Given the description of an element on the screen output the (x, y) to click on. 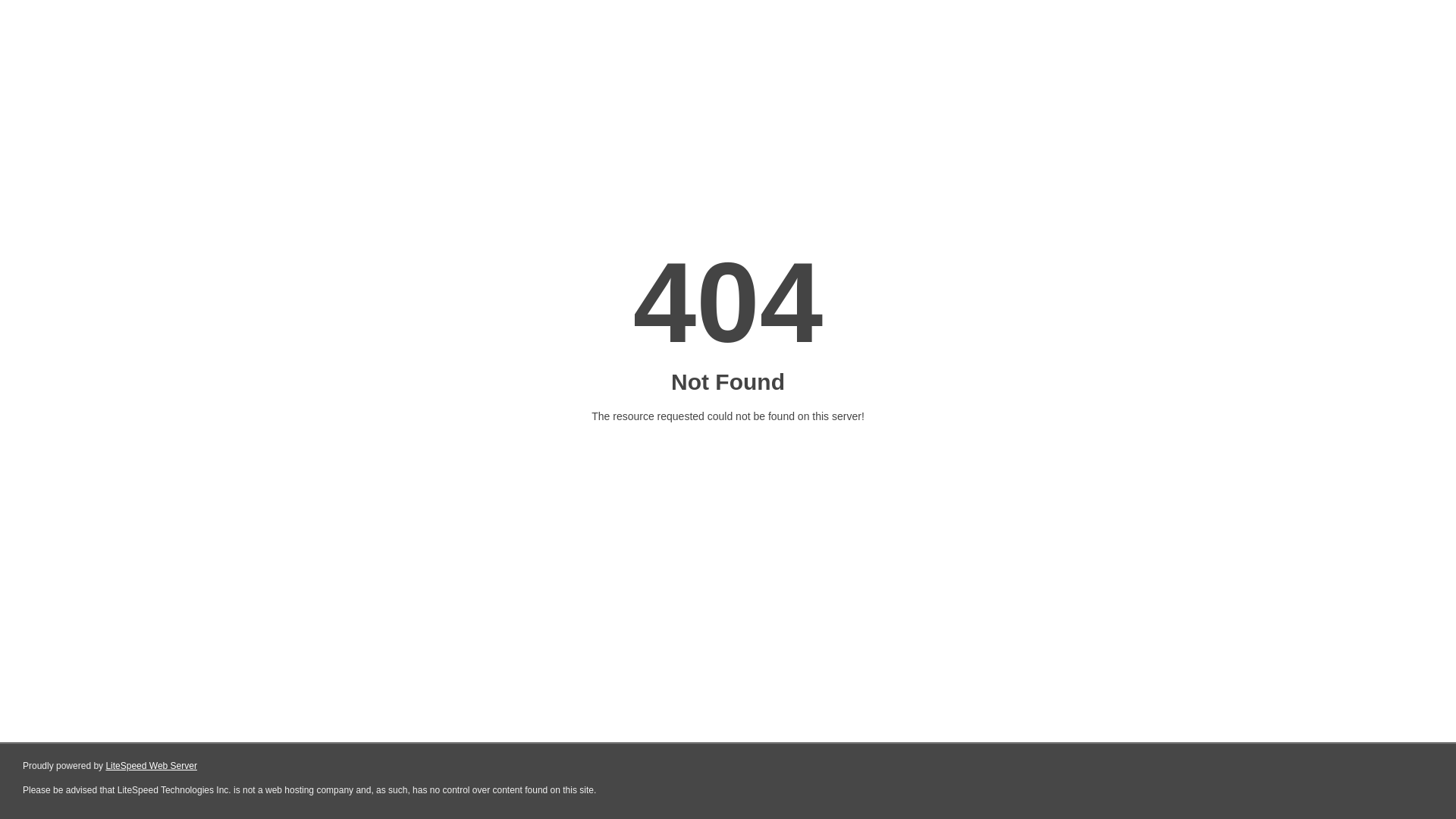
LiteSpeed Web Server Element type: text (151, 765)
